Given the description of an element on the screen output the (x, y) to click on. 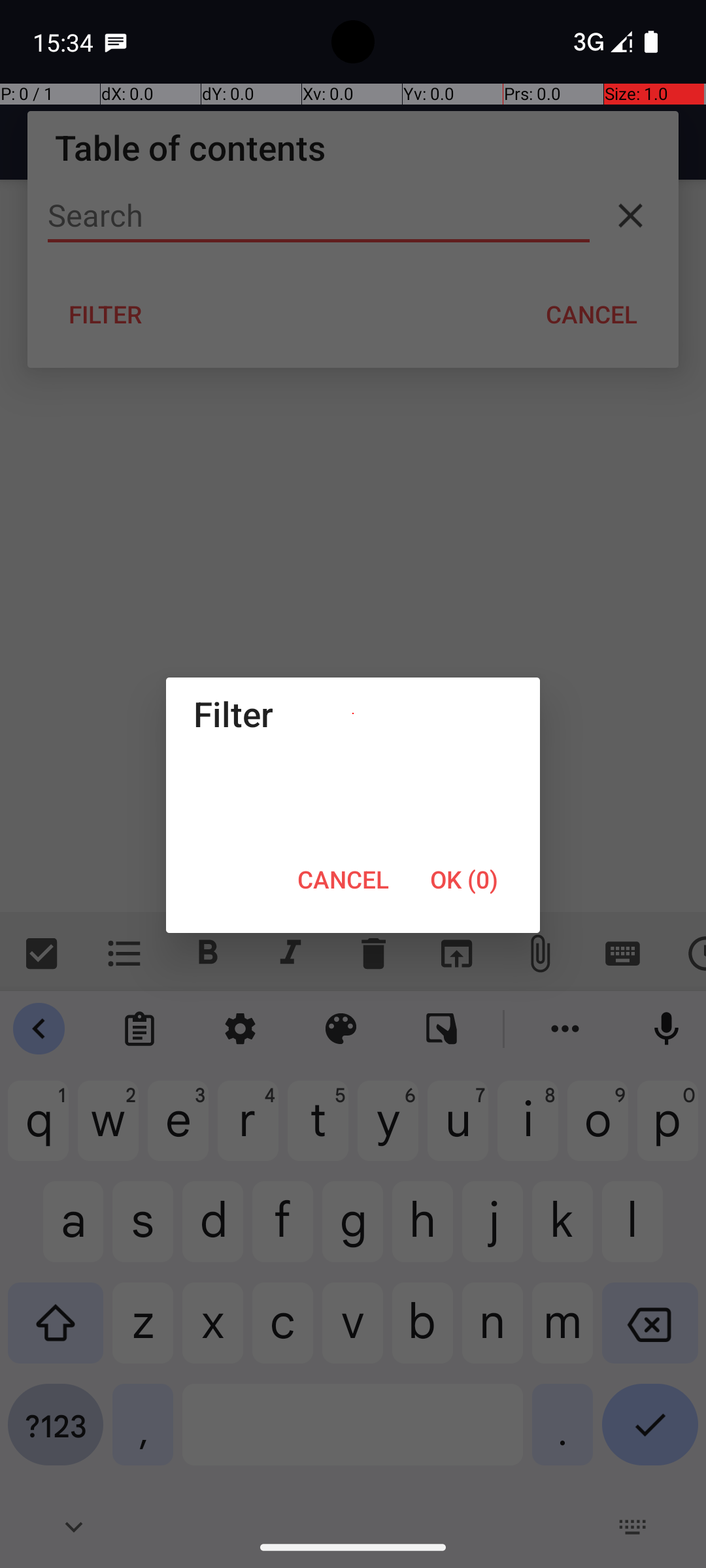
Filter Element type: android.widget.TextView (352, 713)
OK (0) Element type: android.widget.Button (464, 879)
